Given the description of an element on the screen output the (x, y) to click on. 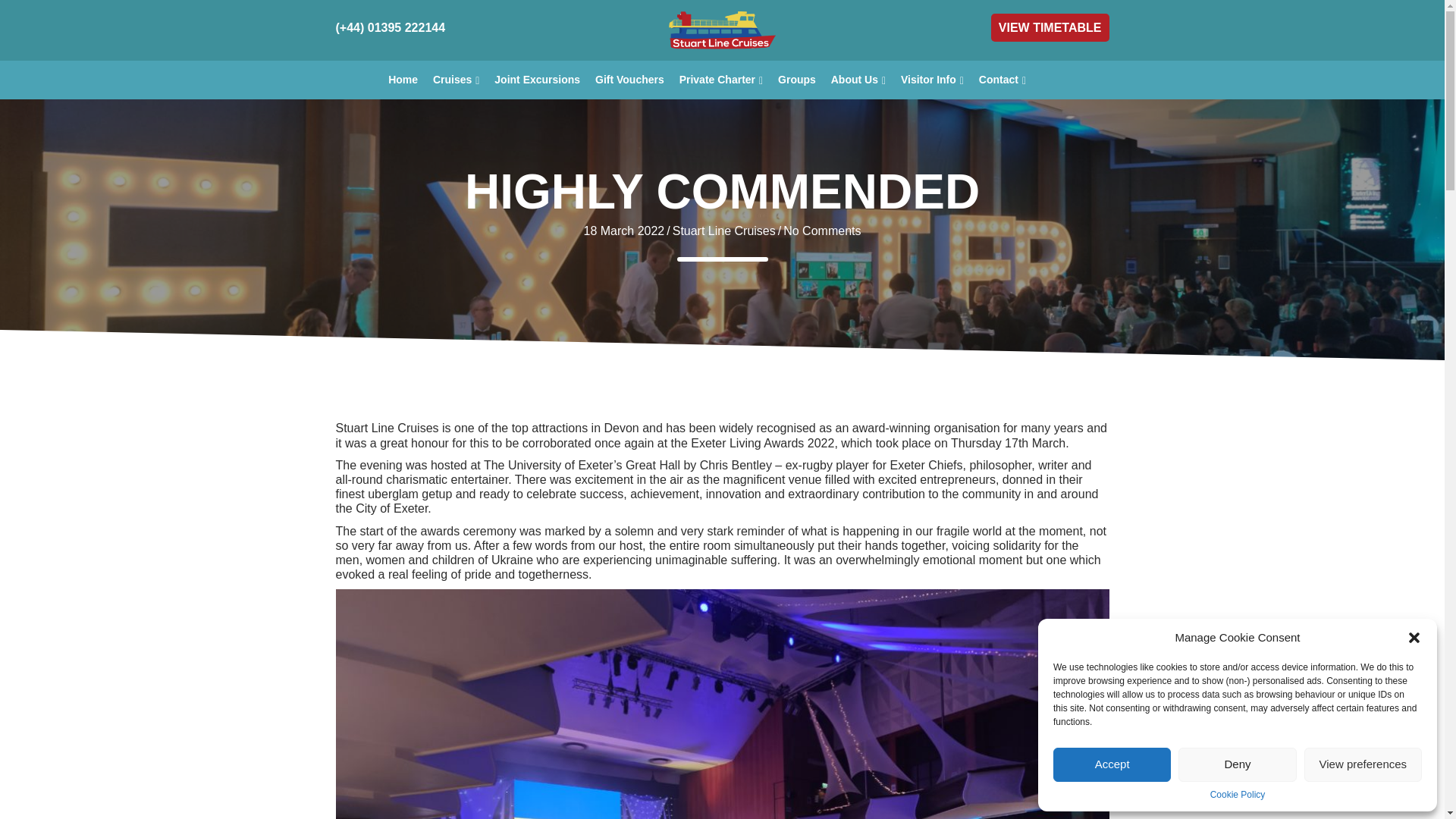
View preferences (1363, 764)
Deny (1236, 764)
Cruises (455, 80)
Cookie Policy (1237, 794)
Accept (1111, 764)
VIEW TIMETABLE (1050, 27)
Home (402, 80)
